Given the description of an element on the screen output the (x, y) to click on. 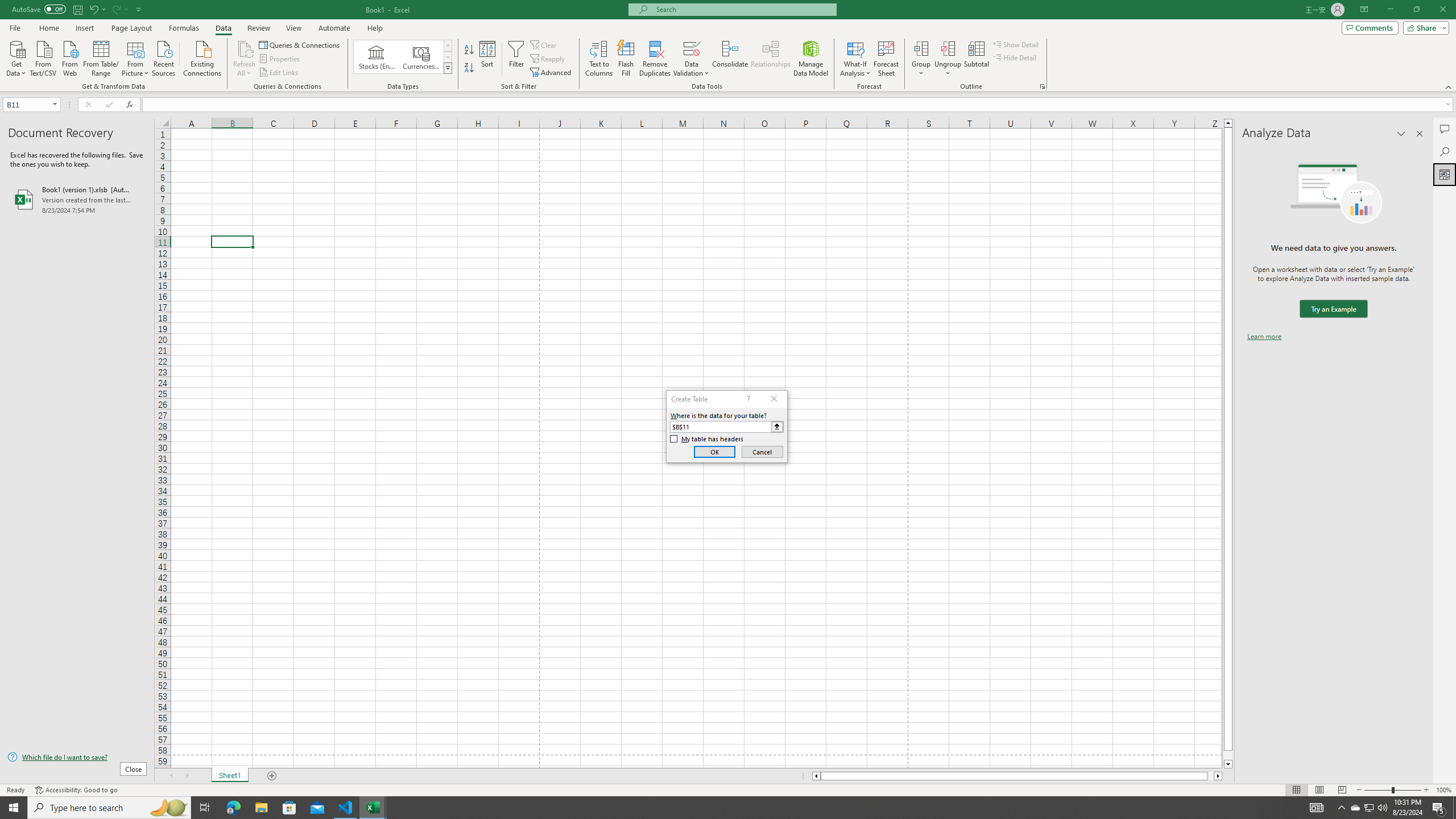
Page Layout (131, 28)
Ungroup... (947, 48)
Ribbon Display Options (1364, 9)
Add Sheet (272, 775)
Relationships (770, 58)
Advanced... (551, 72)
Class: MsoCommandBar (728, 45)
Queries & Connections (300, 44)
Book1 (version 1).xlsb  [AutoRecovered] (77, 199)
Recent Sources (163, 57)
Refresh All (244, 48)
Minimize (1390, 9)
Manage Data Model (810, 58)
Learn more (1264, 336)
